Given the description of an element on the screen output the (x, y) to click on. 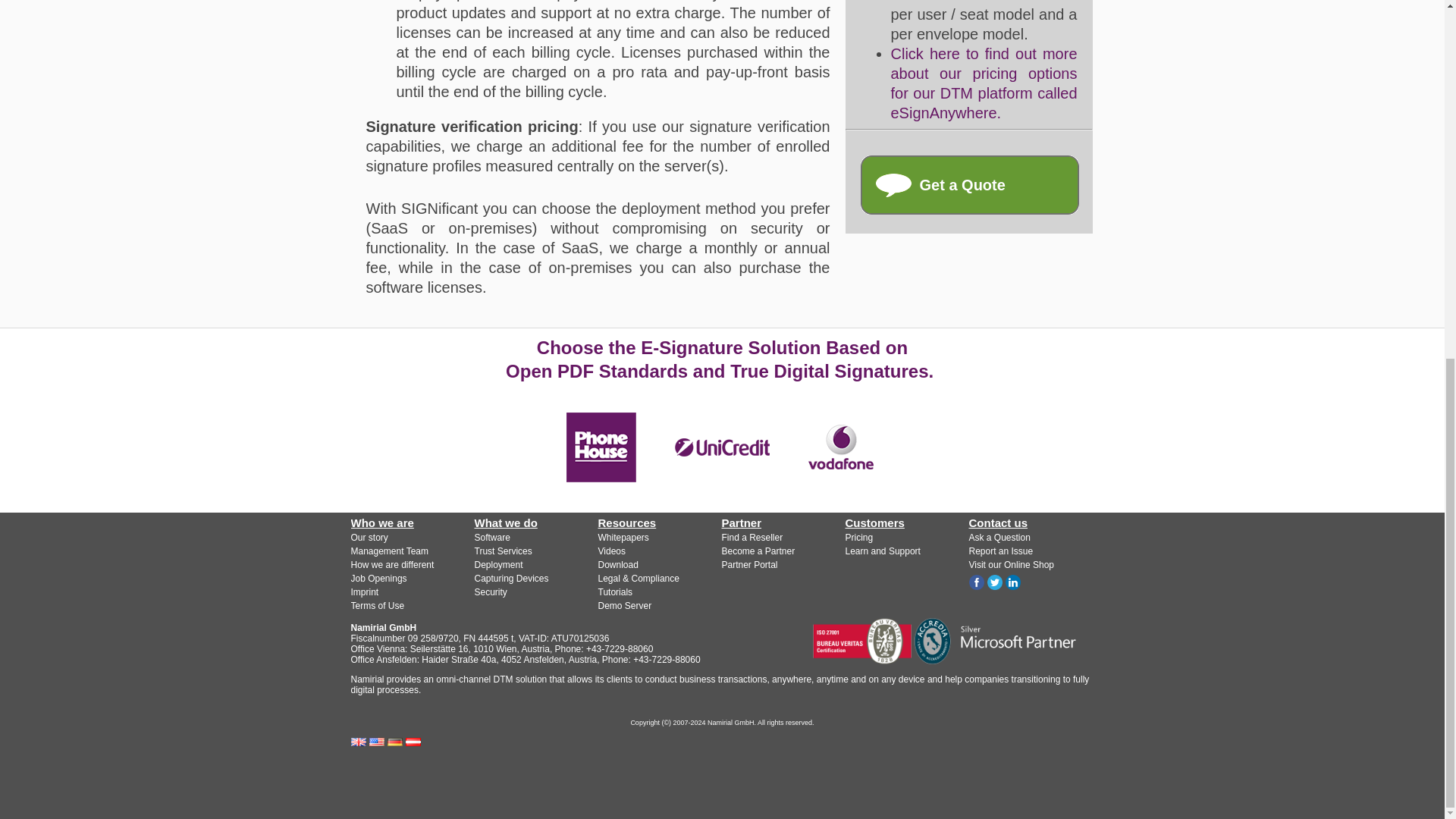
Videos (610, 551)
Job Openings (378, 578)
Capturing Devices (511, 578)
Whitepapers (621, 537)
Software (492, 537)
Resources (626, 522)
Management Team (389, 551)
Management Team (389, 551)
Job Openings (378, 578)
Resources (626, 522)
Who we are (381, 522)
Terms of Use (377, 605)
Contact us (969, 184)
Imprint (364, 592)
Deployment (498, 564)
